Given the description of an element on the screen output the (x, y) to click on. 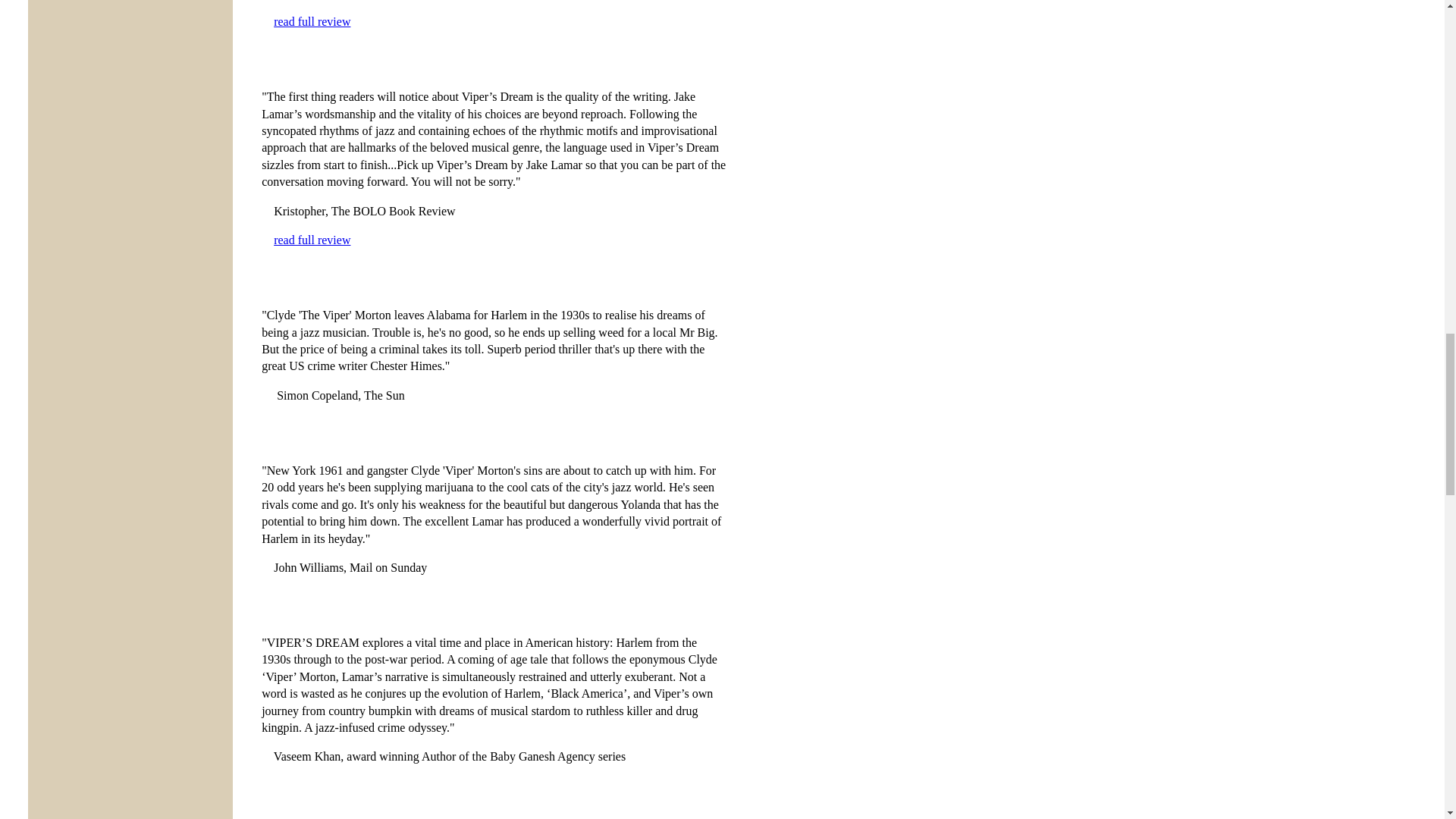
read full review (311, 21)
read full review (311, 239)
